Given the description of an element on the screen output the (x, y) to click on. 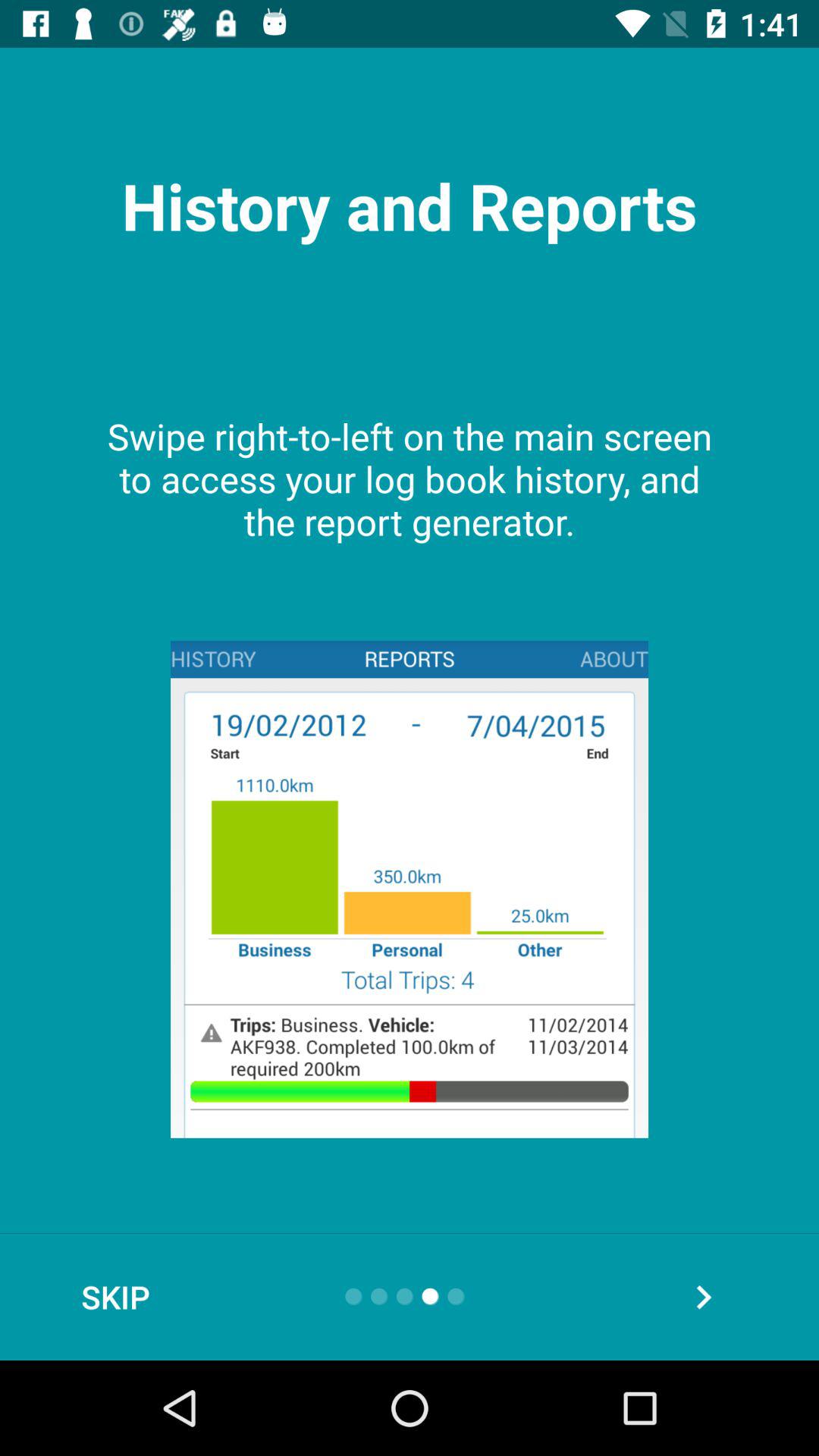
turn off item at the bottom left corner (114, 1296)
